Given the description of an element on the screen output the (x, y) to click on. 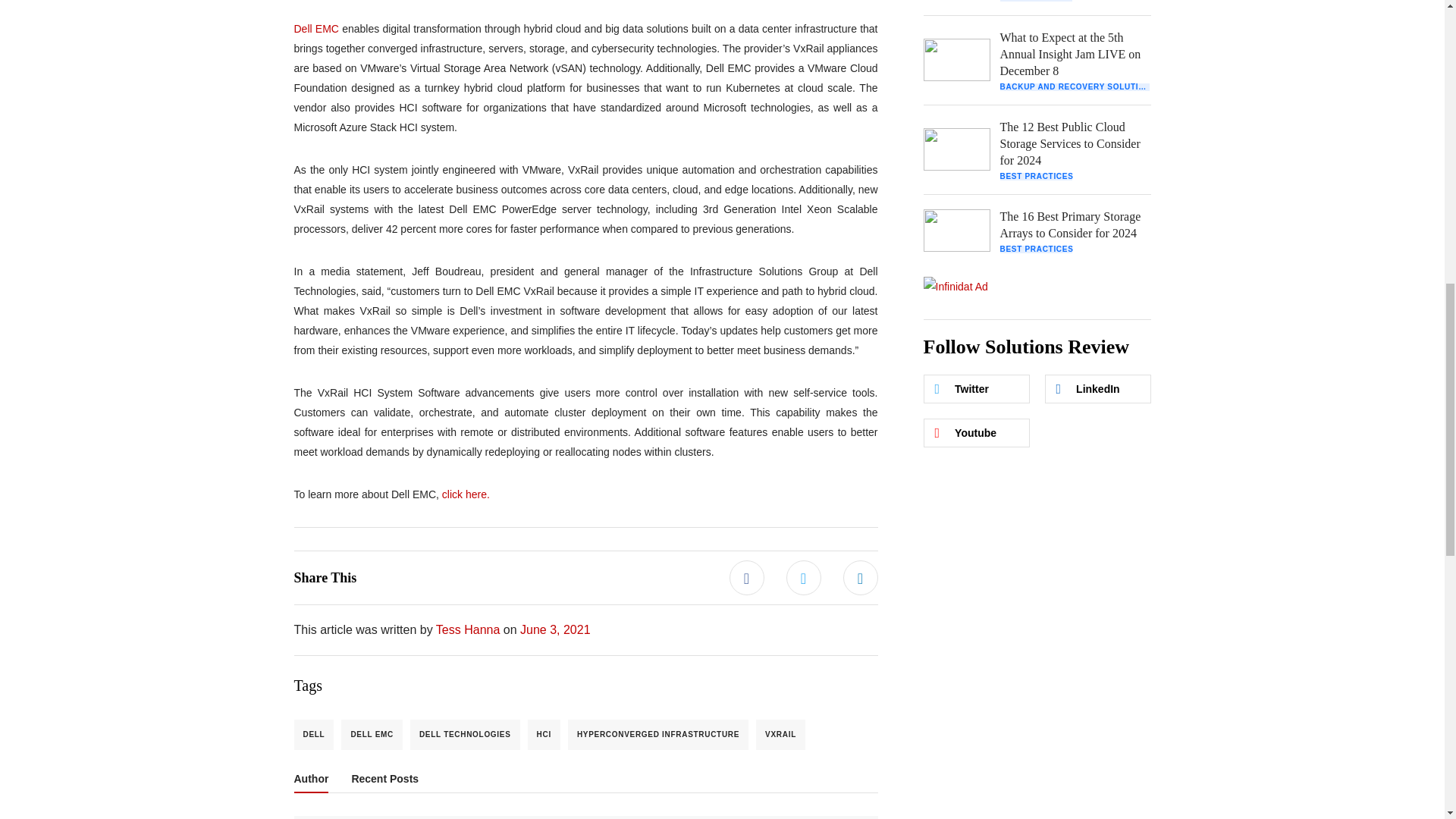
click here. (465, 494)
Data Storage Buyer's Guide (955, 286)
June 3, 2021 (555, 629)
Tess Hanna (467, 629)
Dell EMC (316, 28)
